Given the description of an element on the screen output the (x, y) to click on. 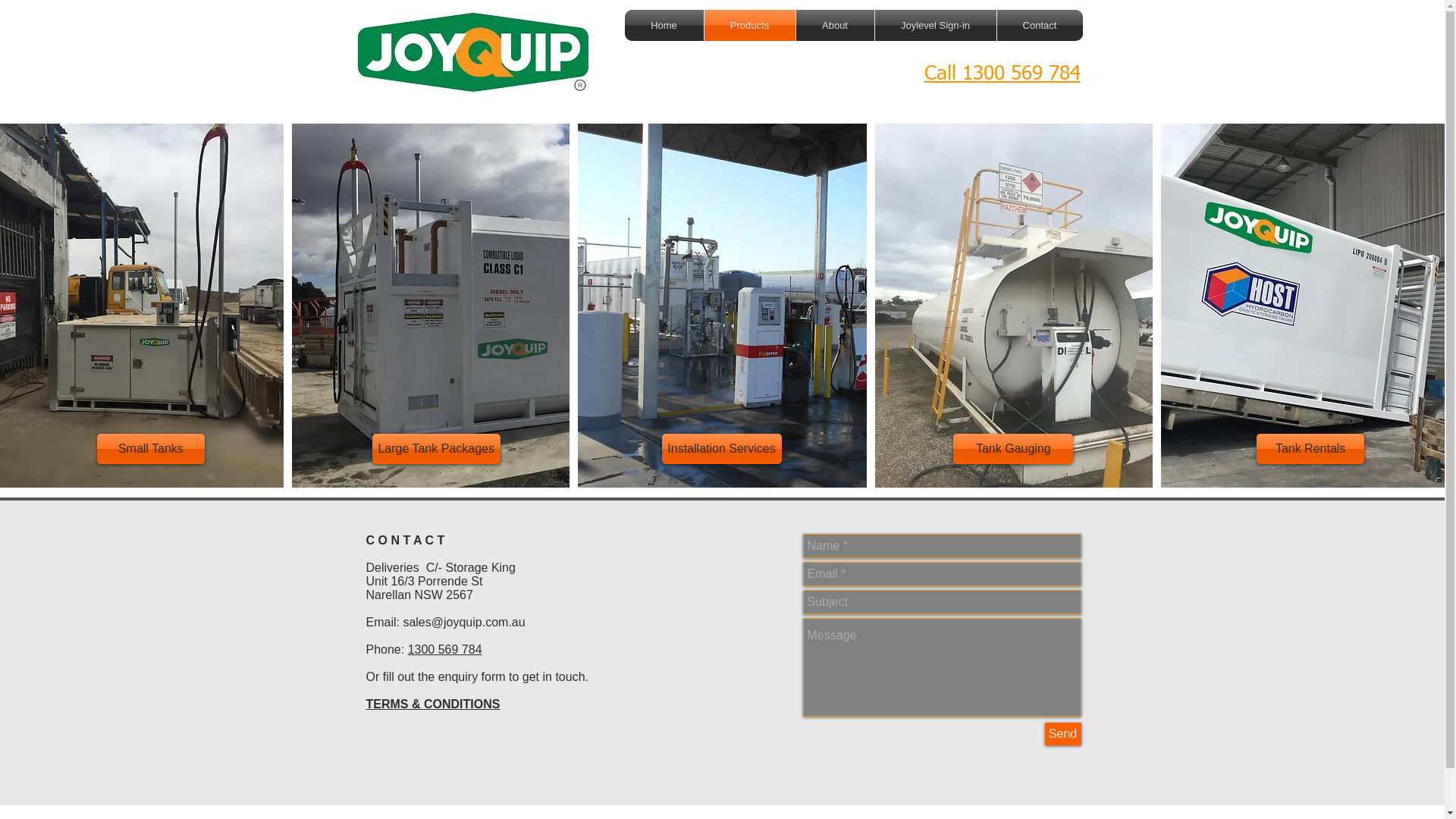
Large Tank Packages Element type: text (436, 448)
About Element type: text (835, 24)
Small Tanks Element type: text (150, 448)
Contact Element type: text (1039, 24)
Tank Rentals Element type: text (1310, 448)
Home Element type: text (663, 24)
Call 1300 569 784 Element type: text (1001, 74)
Tank Gauging Element type: text (1013, 448)
Joylevel Sign-in Element type: text (935, 24)
sales@joyquip.com.au Element type: text (463, 621)
Installation Services Element type: text (721, 448)
Send Element type: text (1062, 733)
Products Element type: text (748, 24)
TERMS & CONDITIONS Element type: text (432, 703)
1300 569 784 Element type: text (444, 649)
